Given the description of an element on the screen output the (x, y) to click on. 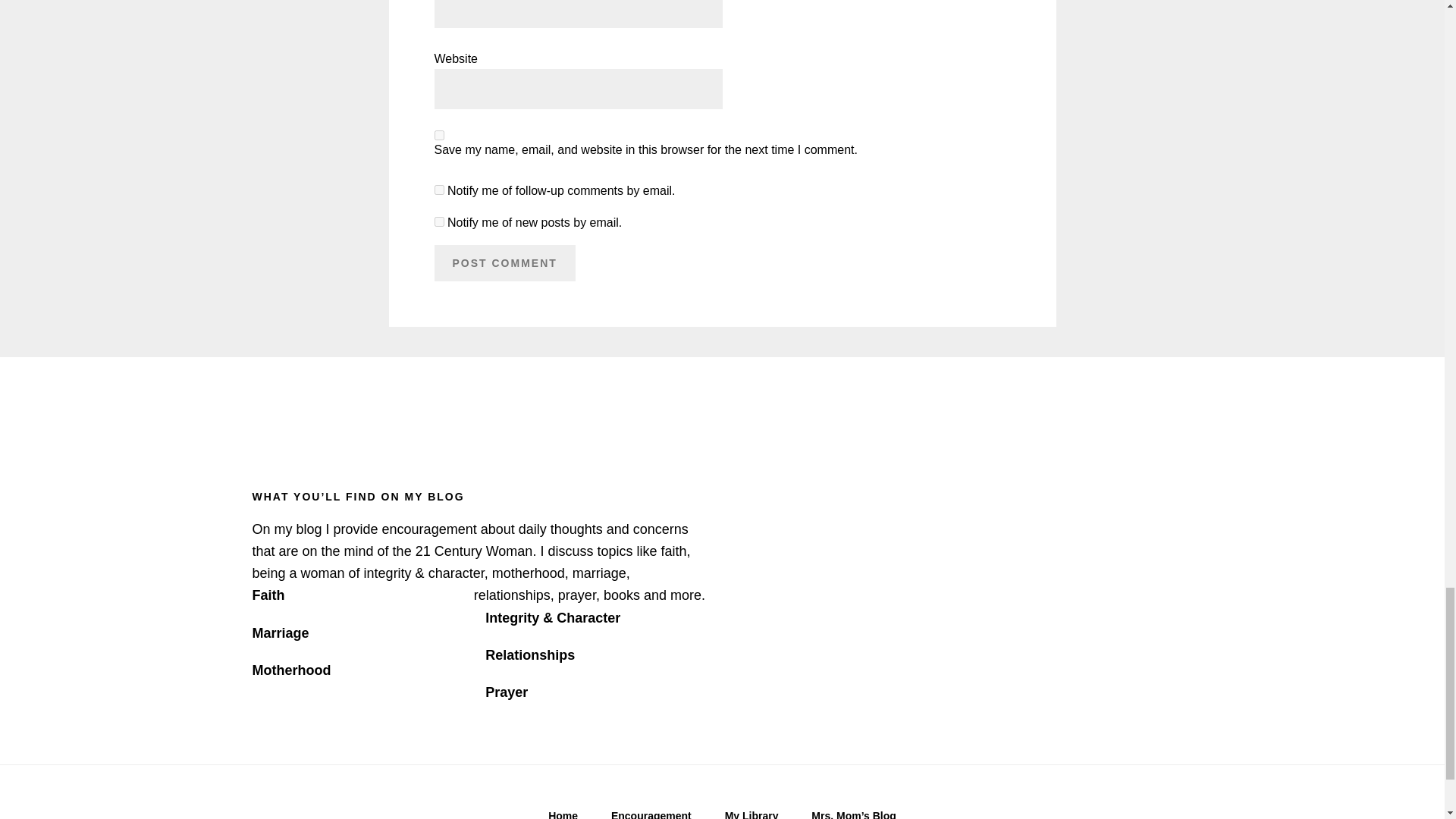
Post Comment (504, 262)
Home (562, 814)
yes (438, 135)
subscribe (438, 221)
Relationships (529, 654)
Prayer (505, 692)
subscribe (438, 189)
My Library (751, 814)
Marriage (279, 632)
Faith (267, 595)
